Given the description of an element on the screen output the (x, y) to click on. 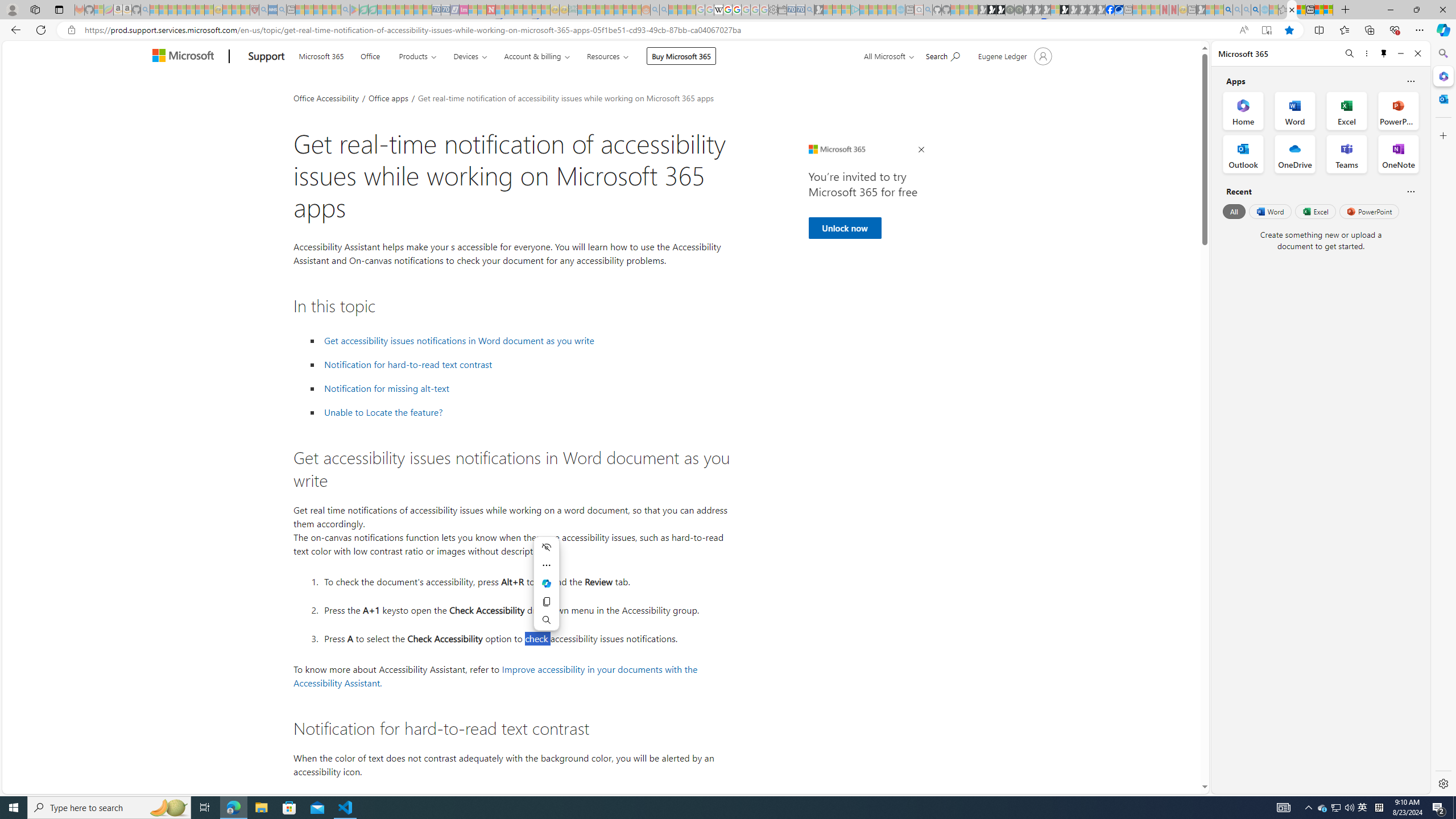
Buy Microsoft 365 (681, 55)
AirNow.gov (1118, 9)
Future Focus Report 2024 - Sleeping (1018, 9)
Office (370, 54)
Close Microsoft 365 pane (1442, 76)
Mini menu on text selection (546, 583)
Search for help (942, 54)
Is this helpful? (1410, 191)
